Given the description of an element on the screen output the (x, y) to click on. 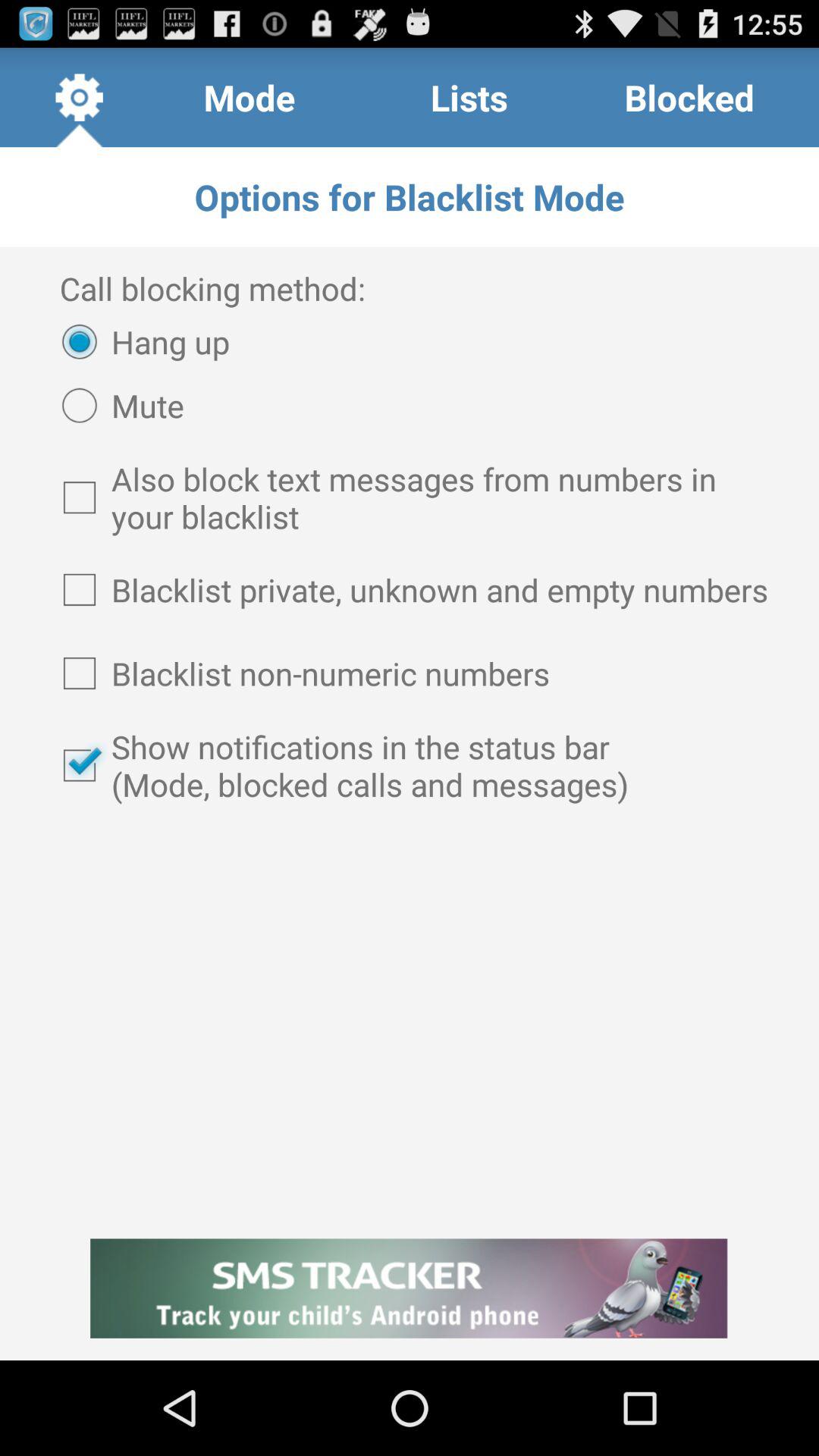
turn on the item below also block text (409, 589)
